Given the description of an element on the screen output the (x, y) to click on. 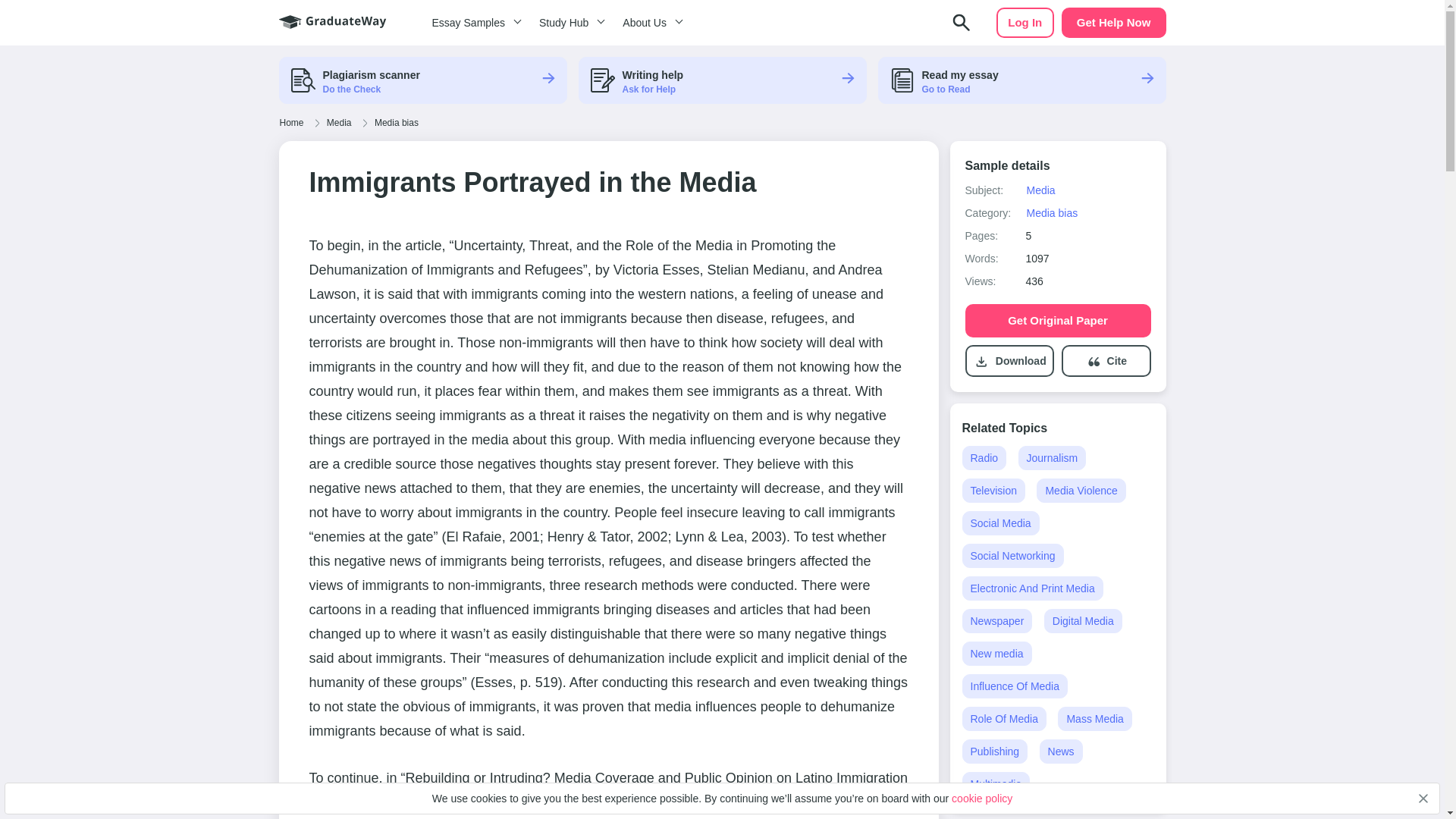
Cite (1116, 360)
Media bias (396, 122)
Media bias (1051, 213)
Home (291, 122)
Essay Samples (473, 22)
Media (1040, 190)
About Us (649, 22)
Media (339, 122)
Study Hub (569, 22)
